Given the description of an element on the screen output the (x, y) to click on. 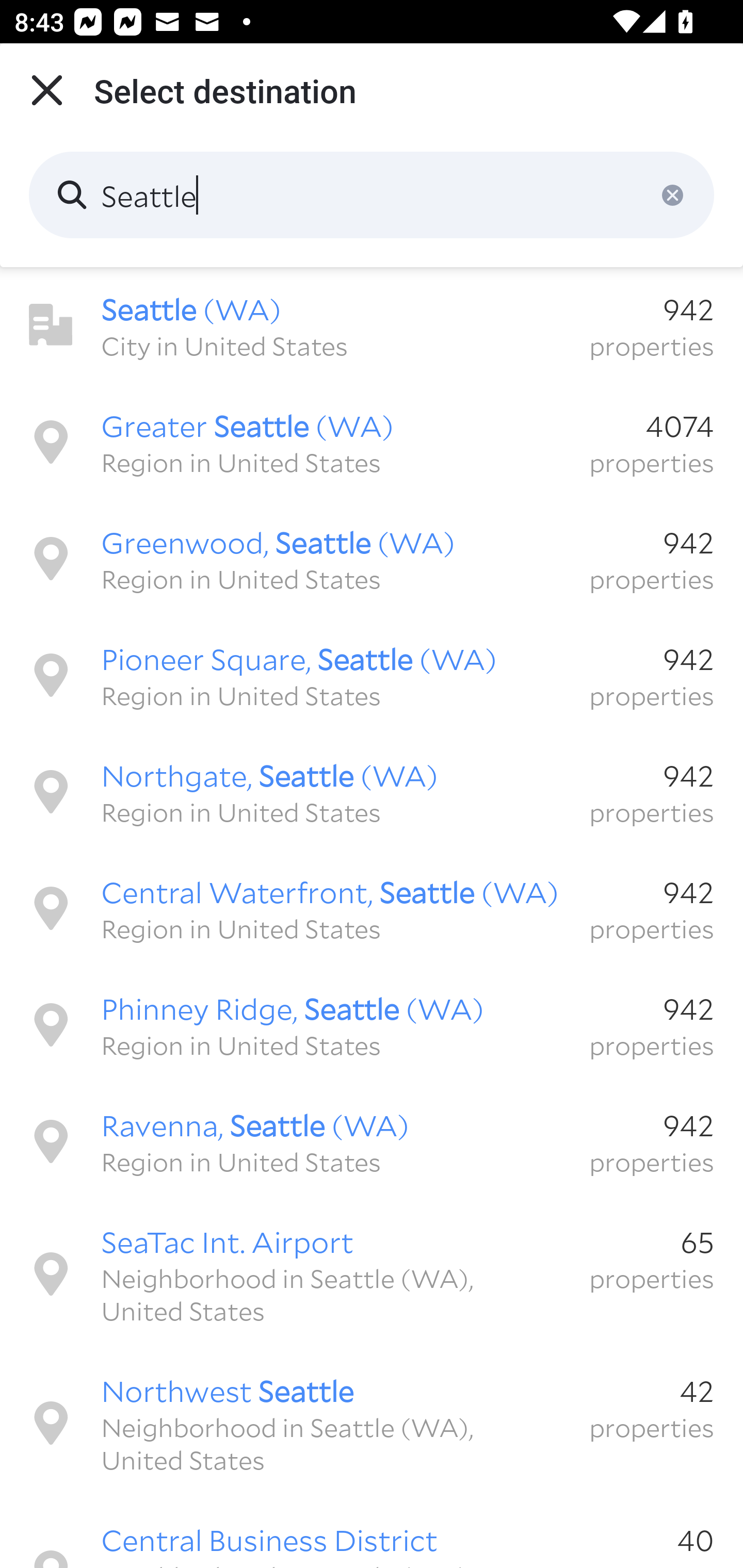
Seattle (371, 195)
Seattle (WA) 942 City in United States properties (371, 325)
